Given the description of an element on the screen output the (x, y) to click on. 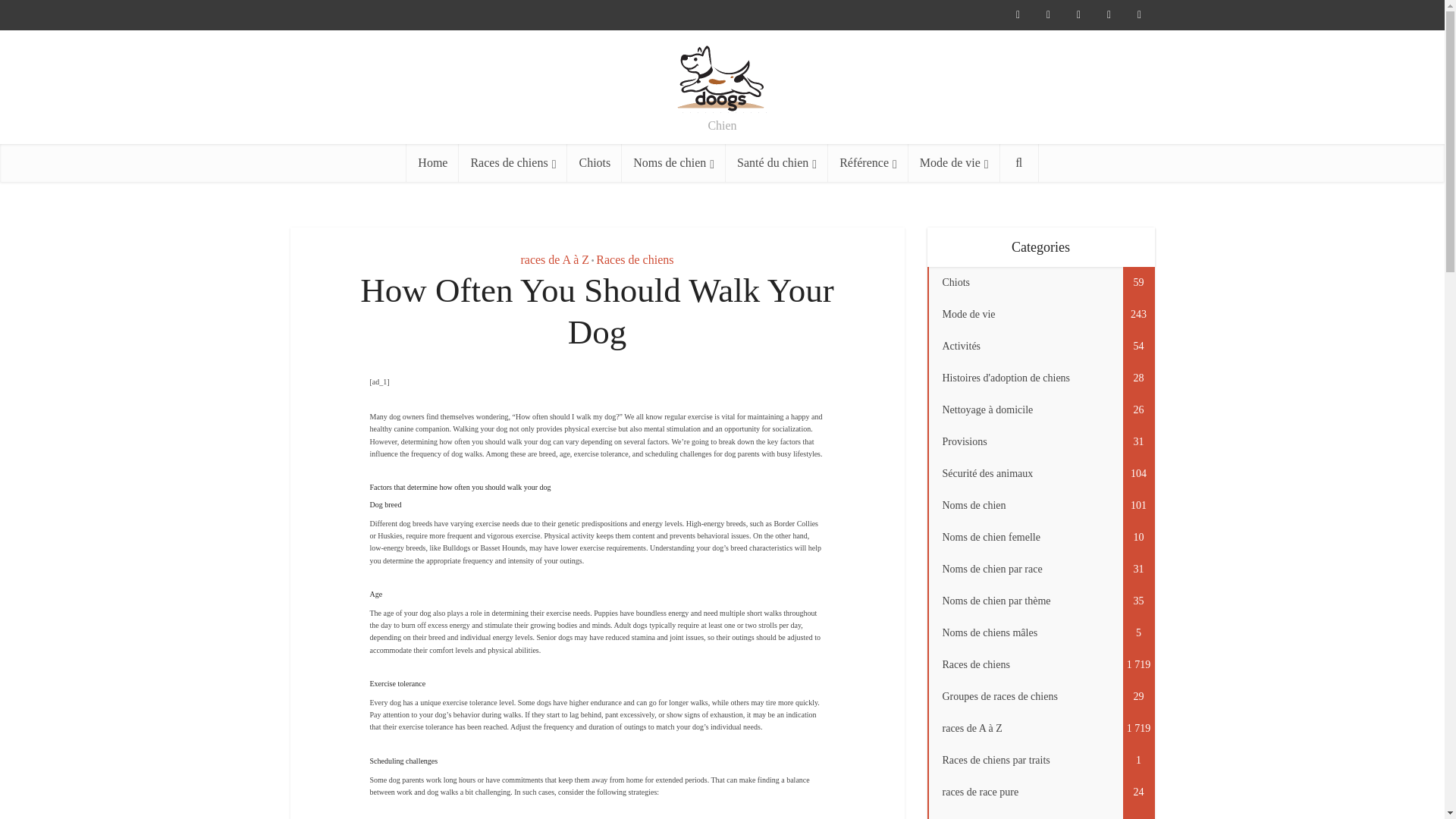
Chiots (594, 162)
Races de chiens (512, 162)
Home (432, 162)
Noms de chien (673, 162)
